Given the description of an element on the screen output the (x, y) to click on. 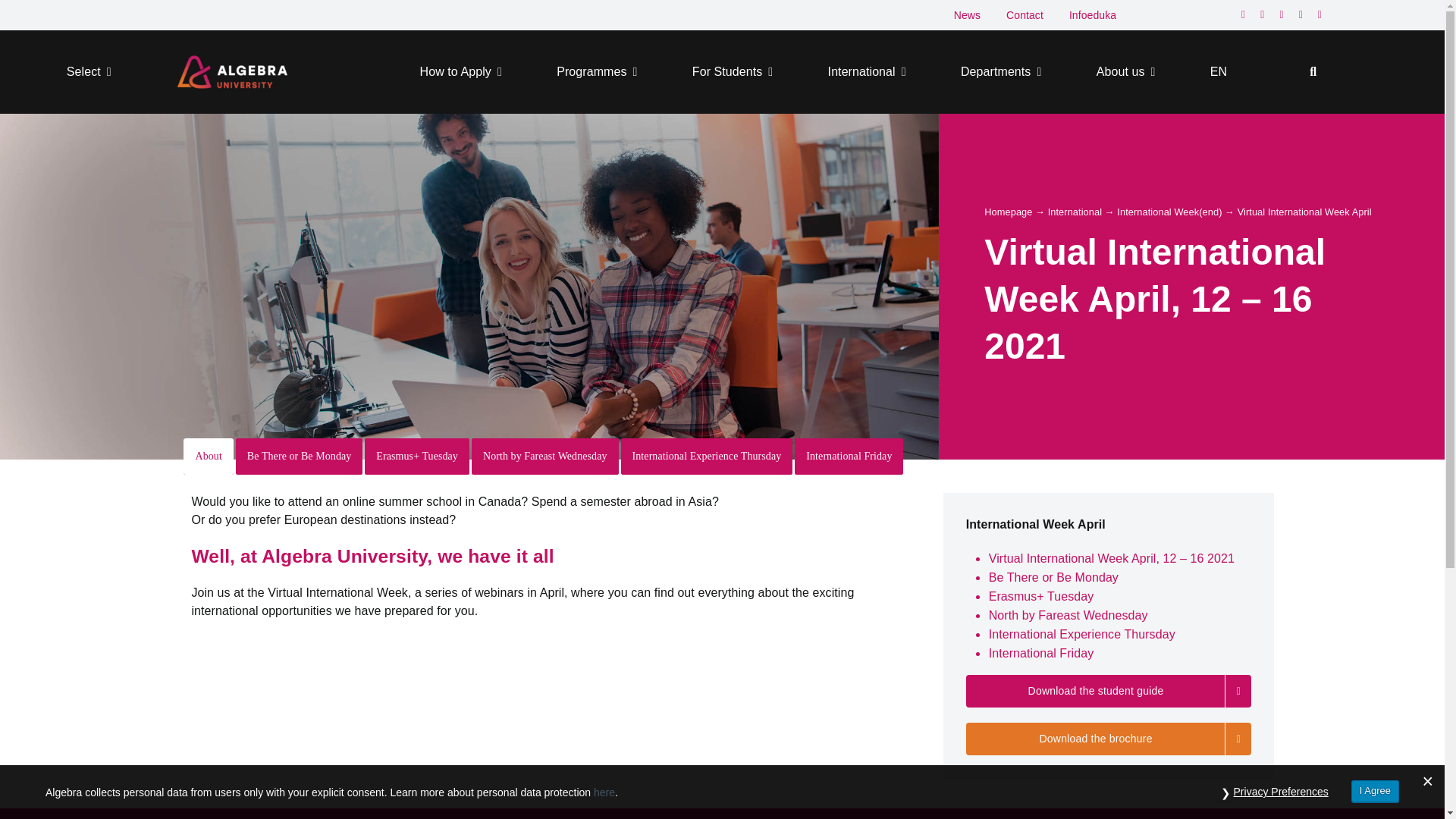
Programmes (596, 71)
Contact (1024, 15)
How to Apply (461, 71)
Infoeduka (1092, 15)
Select (89, 71)
